Given the description of an element on the screen output the (x, y) to click on. 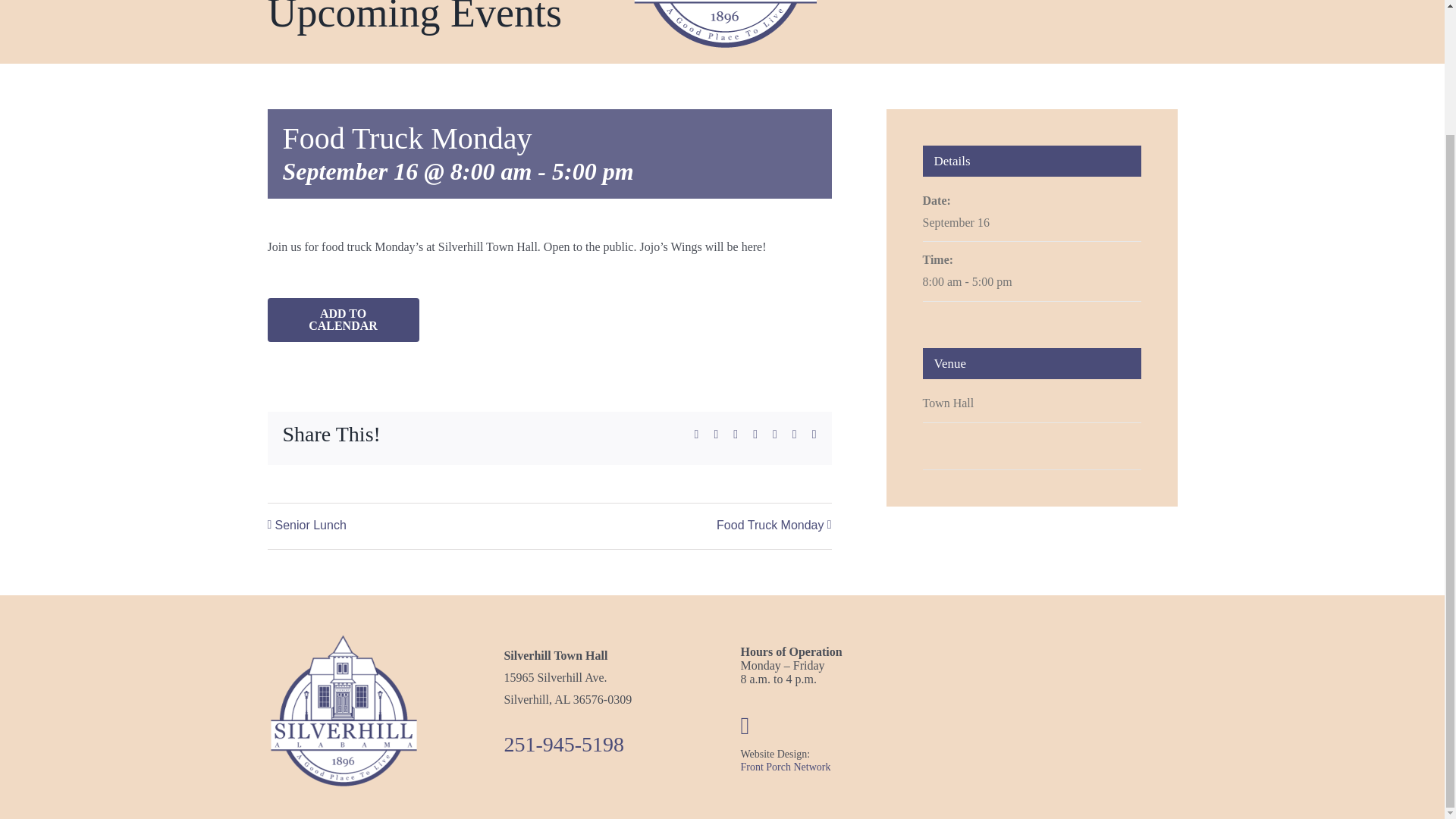
2024-09-16 (954, 222)
2024-09-16 (1030, 282)
Town of Silverhill Alabama (342, 710)
